Given the description of an element on the screen output the (x, y) to click on. 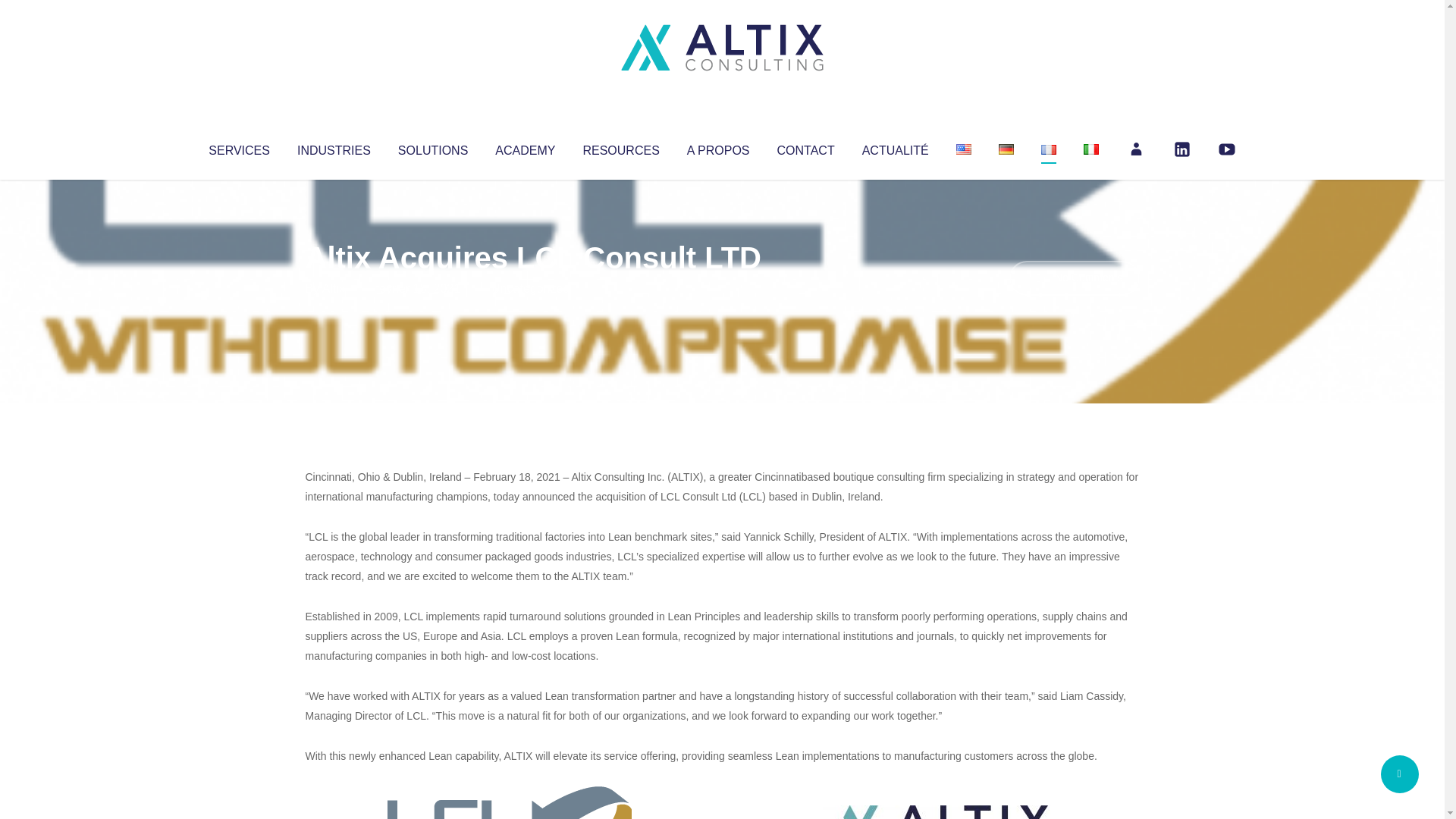
Articles par Altix (333, 287)
A PROPOS (718, 146)
INDUSTRIES (334, 146)
Uncategorized (530, 287)
SOLUTIONS (432, 146)
SERVICES (238, 146)
RESOURCES (620, 146)
No Comments (1073, 278)
ACADEMY (524, 146)
Altix (333, 287)
